Given the description of an element on the screen output the (x, y) to click on. 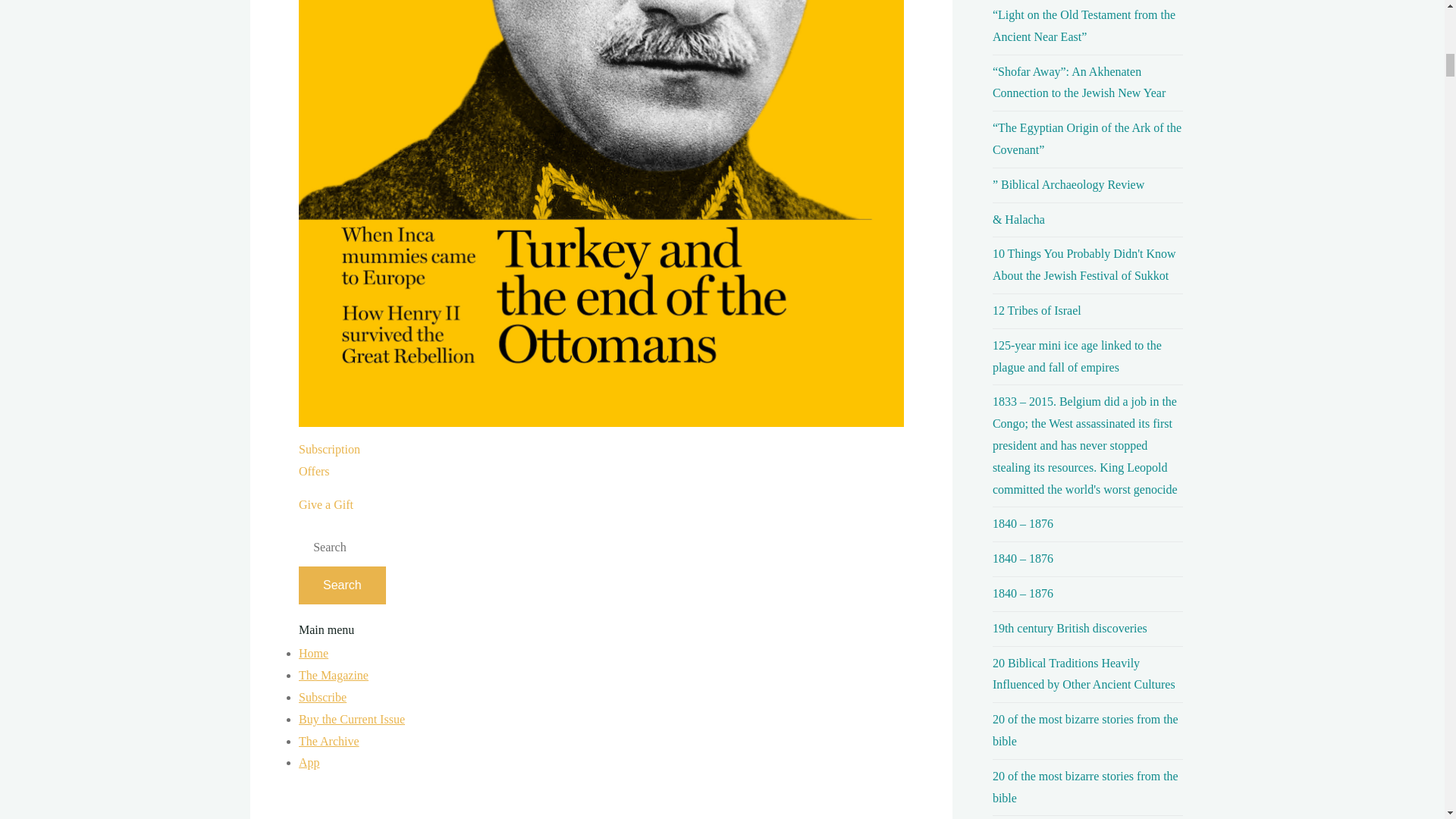
Subscribe (322, 697)
Search (341, 585)
Give a Gift (325, 504)
Search (341, 585)
The Archive (328, 740)
Home (313, 653)
App (309, 762)
The Magazine (328, 460)
Buy the Current Issue (333, 675)
Search (351, 718)
